Given the description of an element on the screen output the (x, y) to click on. 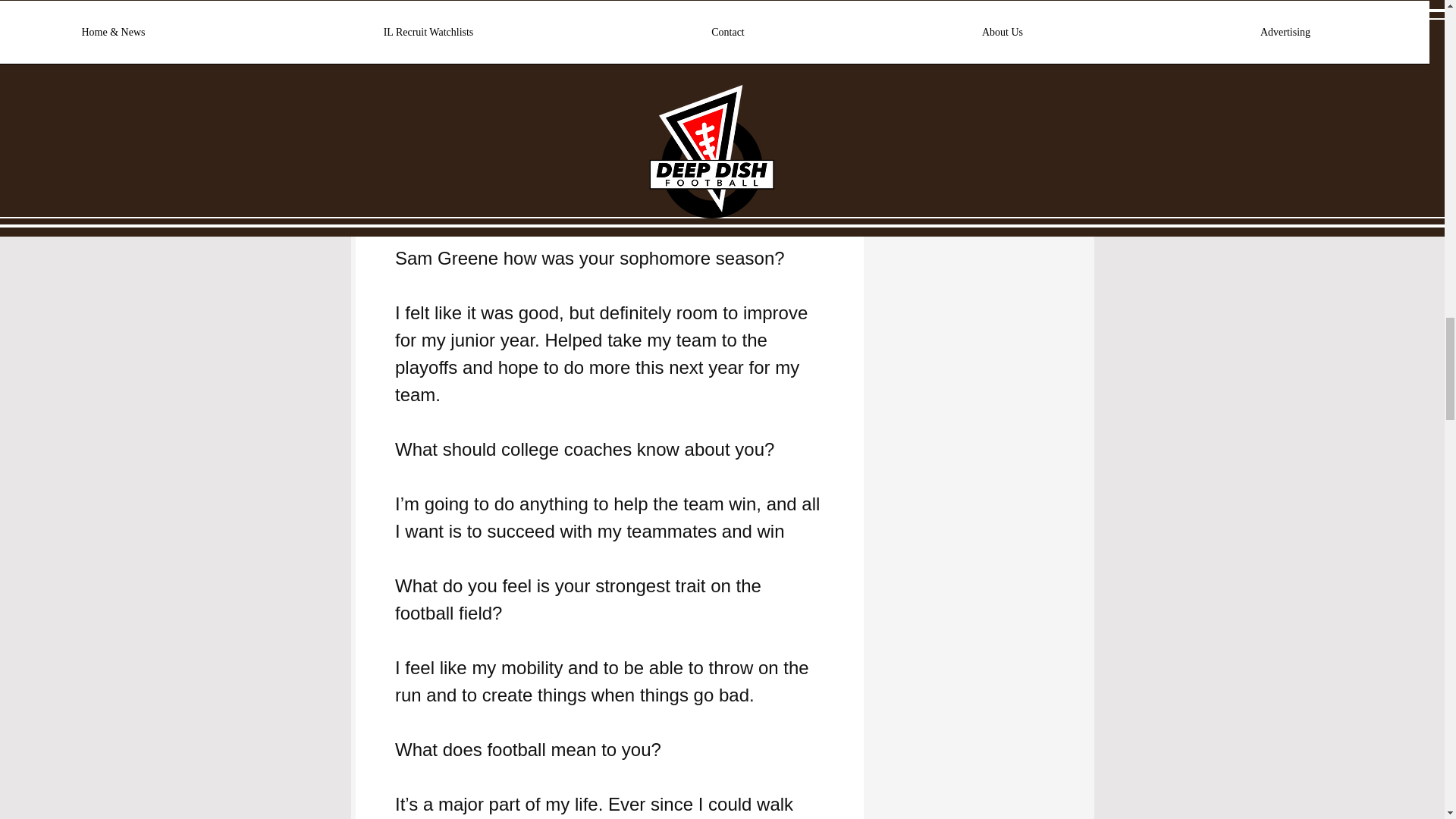
Like The Work Of Deep Dish Football And Coach Big Pete? (611, 134)
Feel Free To Leave A Tip (609, 176)
CLICK HERE (609, 203)
